Given the description of an element on the screen output the (x, y) to click on. 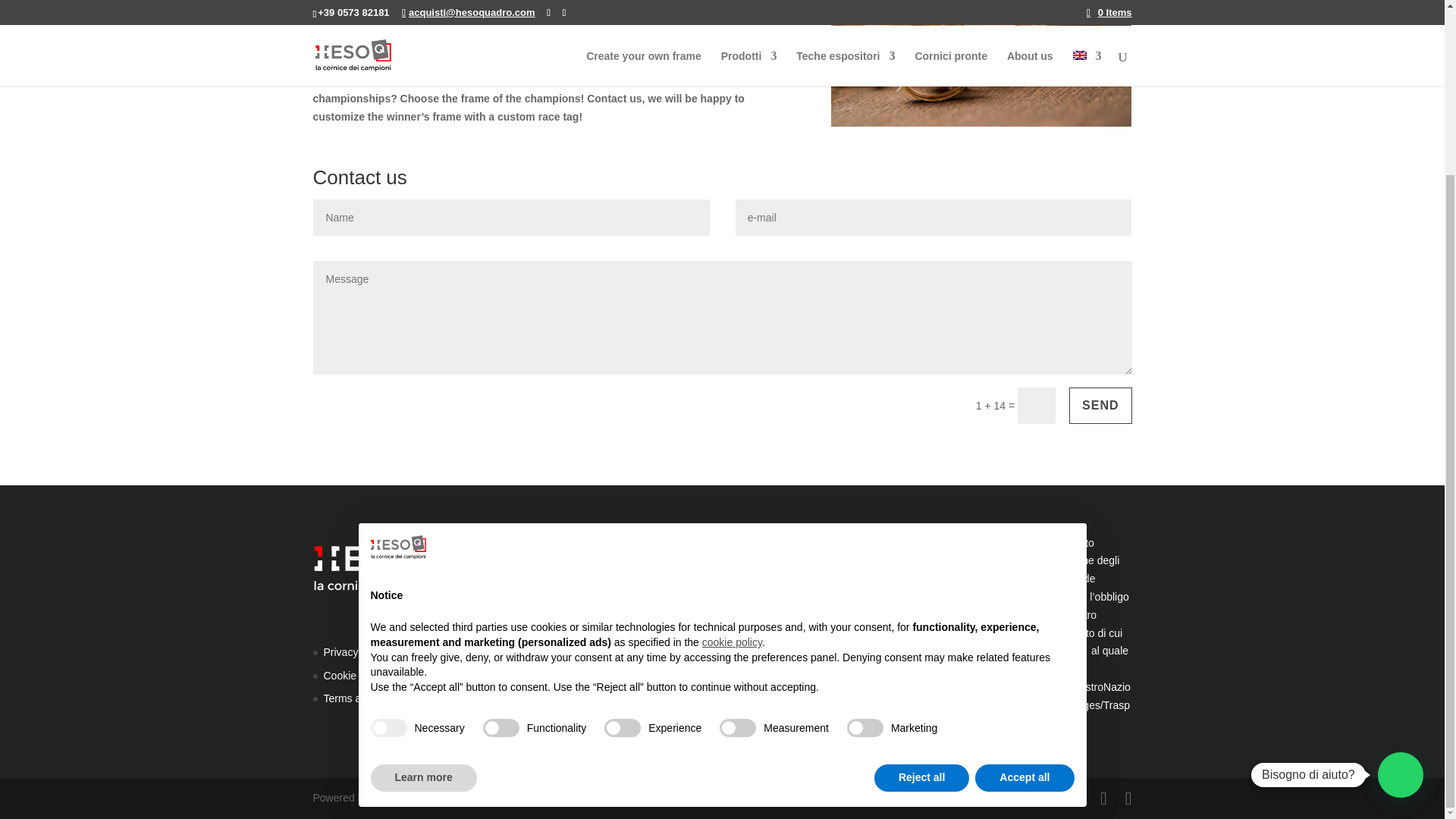
false (865, 515)
false (737, 515)
false (501, 515)
false (622, 515)
true (387, 515)
